Given the description of an element on the screen output the (x, y) to click on. 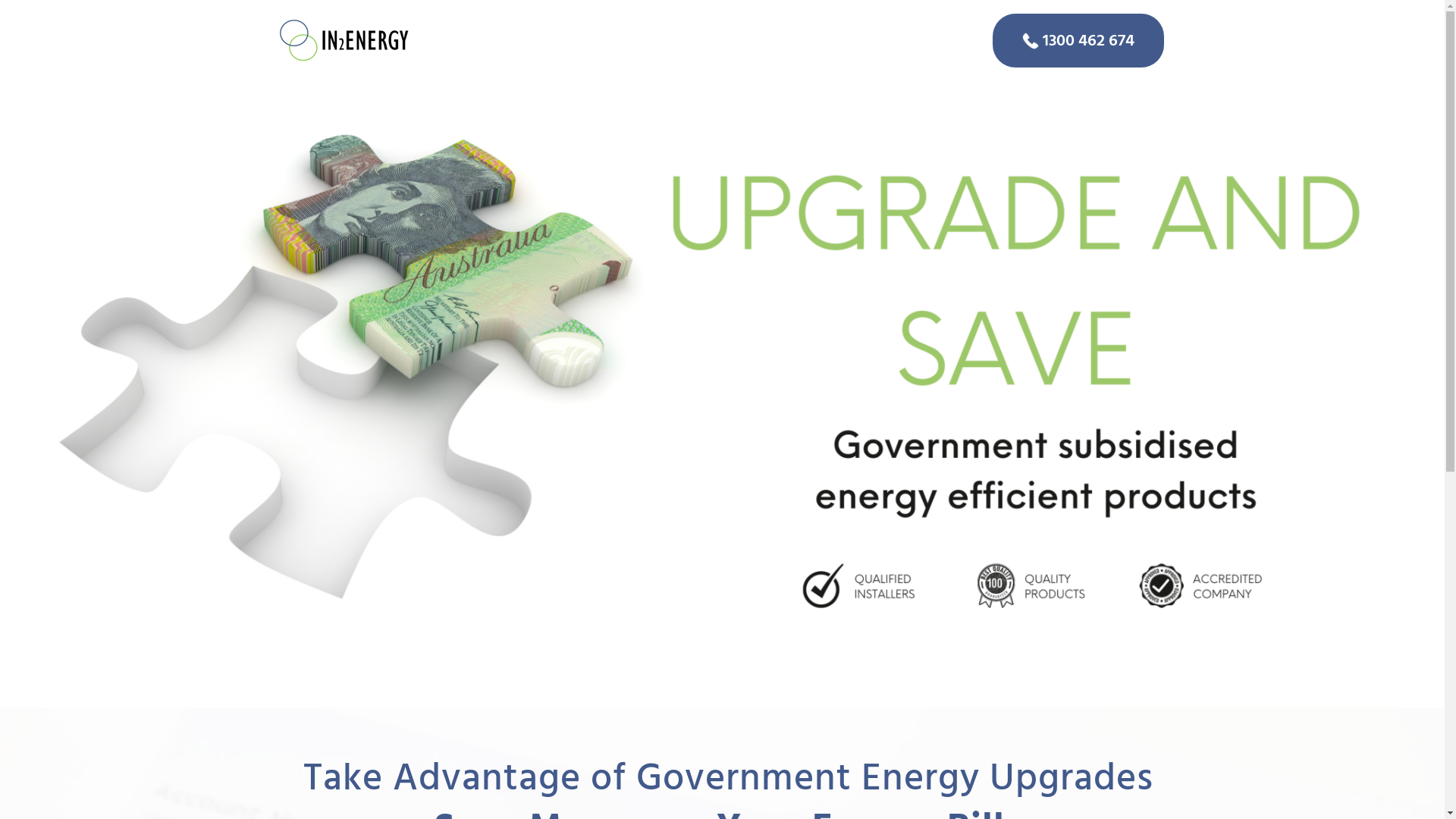
1300 462 674 Element type: text (1077, 40)
